Given the description of an element on the screen output the (x, y) to click on. 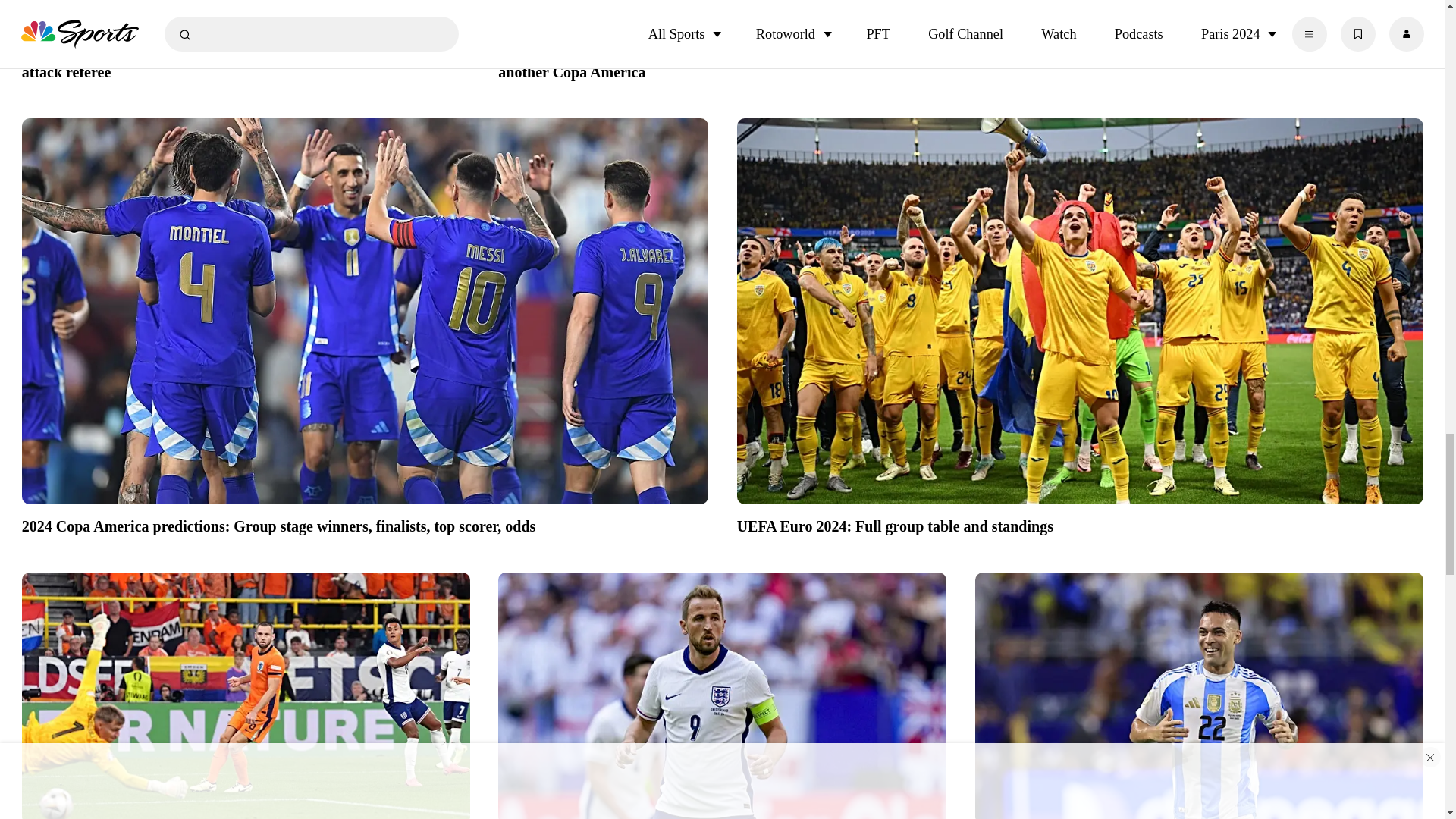
2024 Copa America Standings: Full group tables and standings (1199, 51)
